Given the description of an element on the screen output the (x, y) to click on. 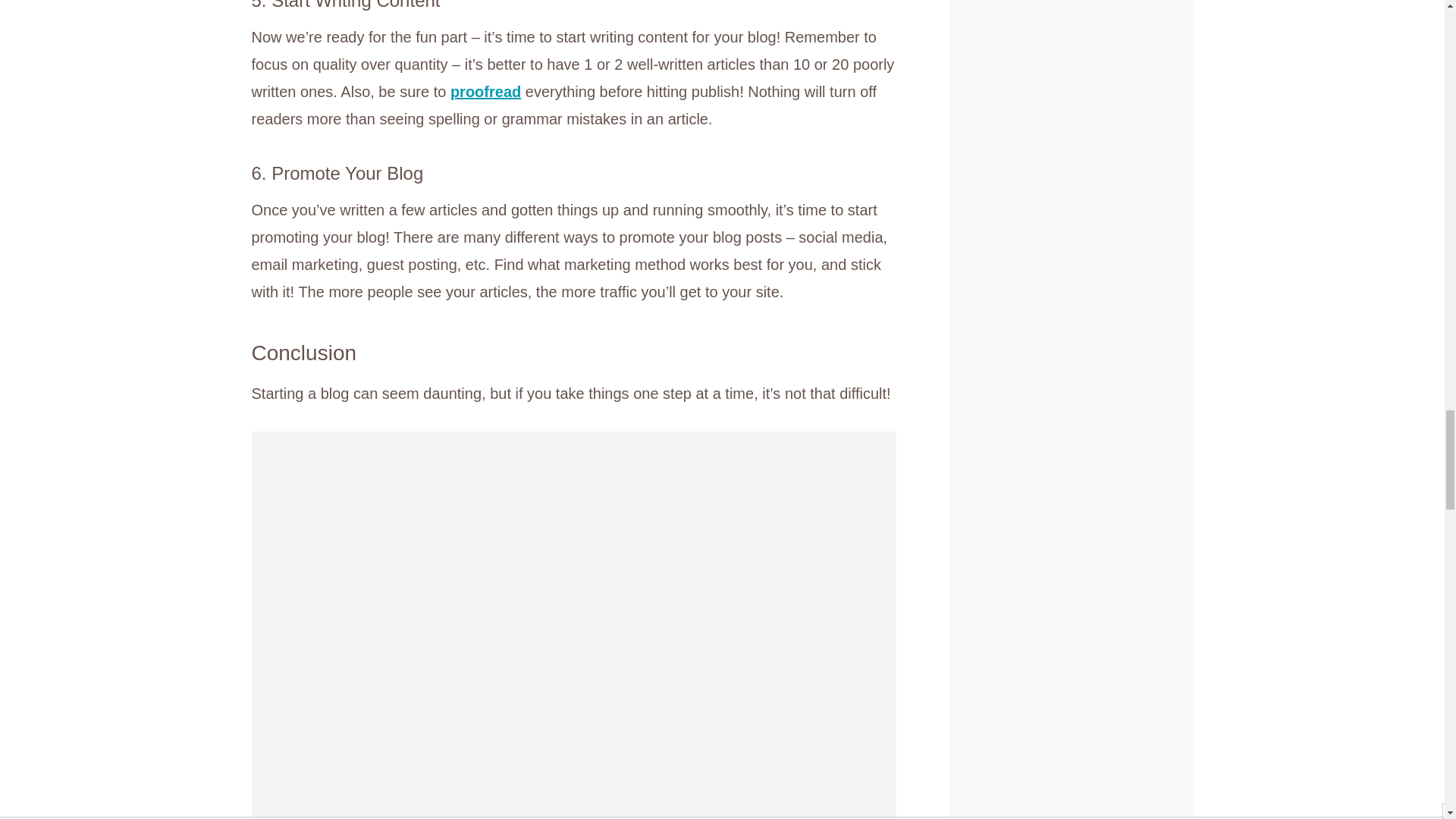
proofread (485, 91)
